Given the description of an element on the screen output the (x, y) to click on. 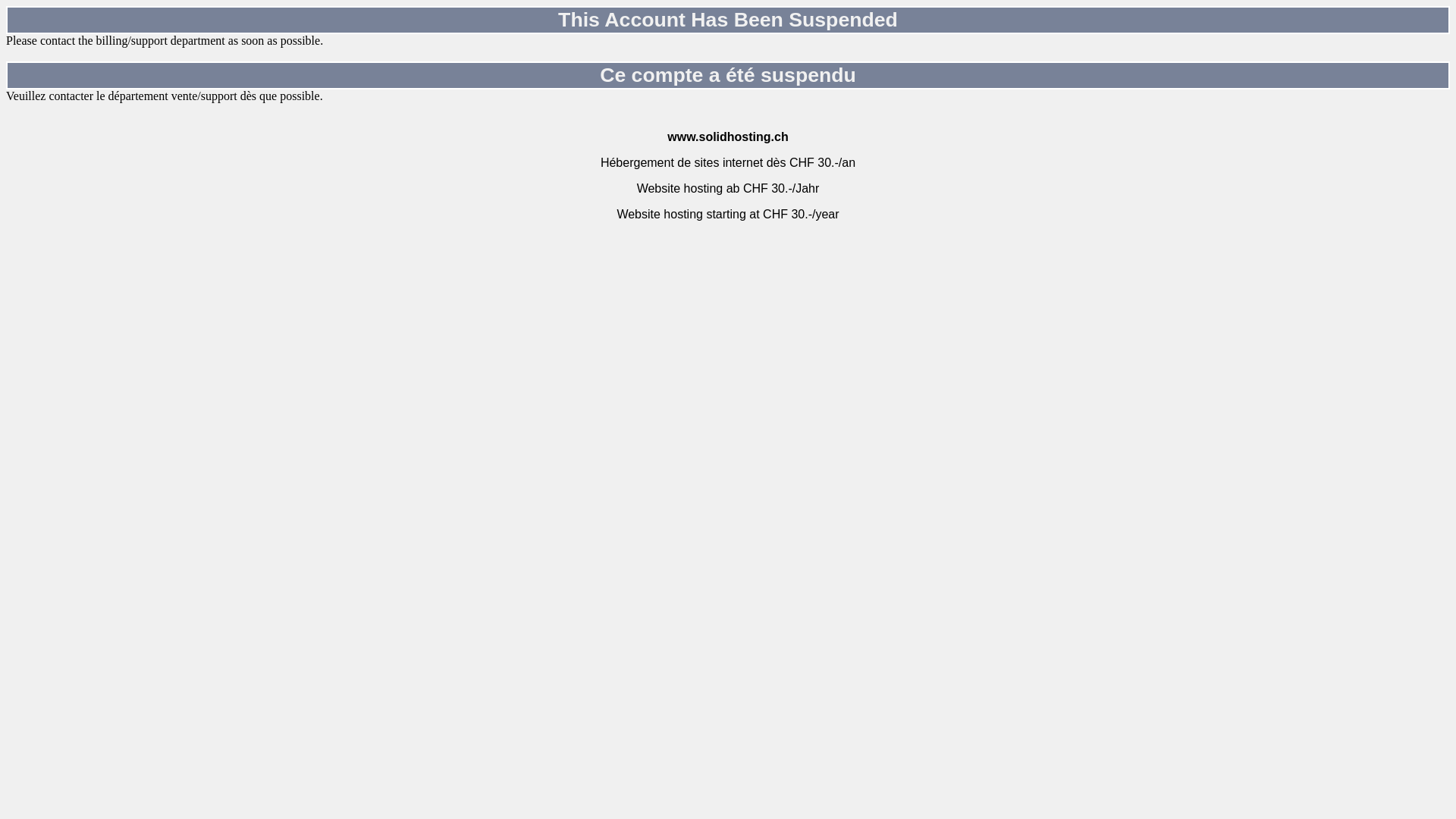
www.solidhosting.ch Element type: text (727, 136)
